Given the description of an element on the screen output the (x, y) to click on. 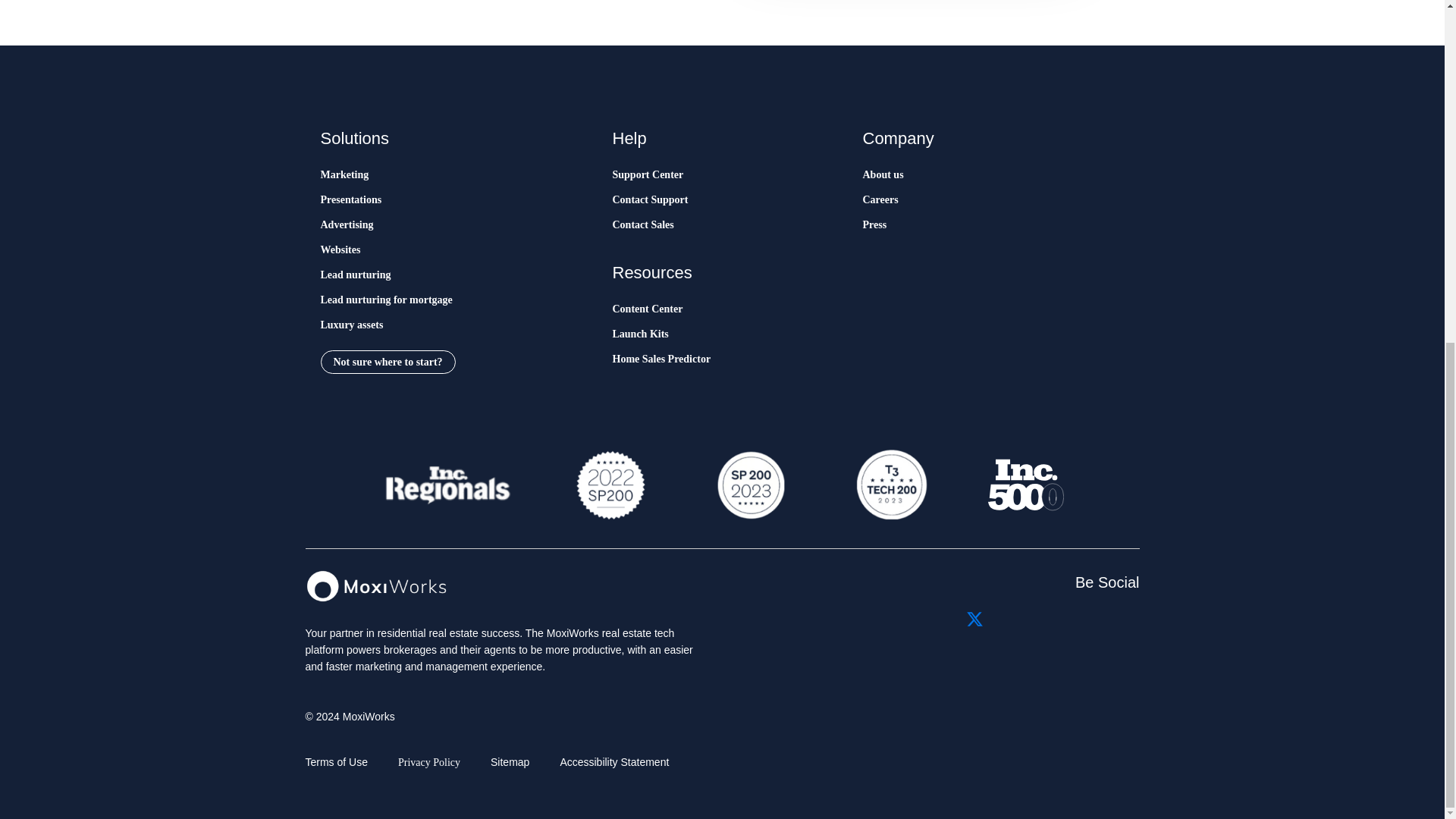
T3 tech 200 2023 (890, 484)
SP 2023 (749, 484)
SP 2022 (610, 484)
